Given the description of an element on the screen output the (x, y) to click on. 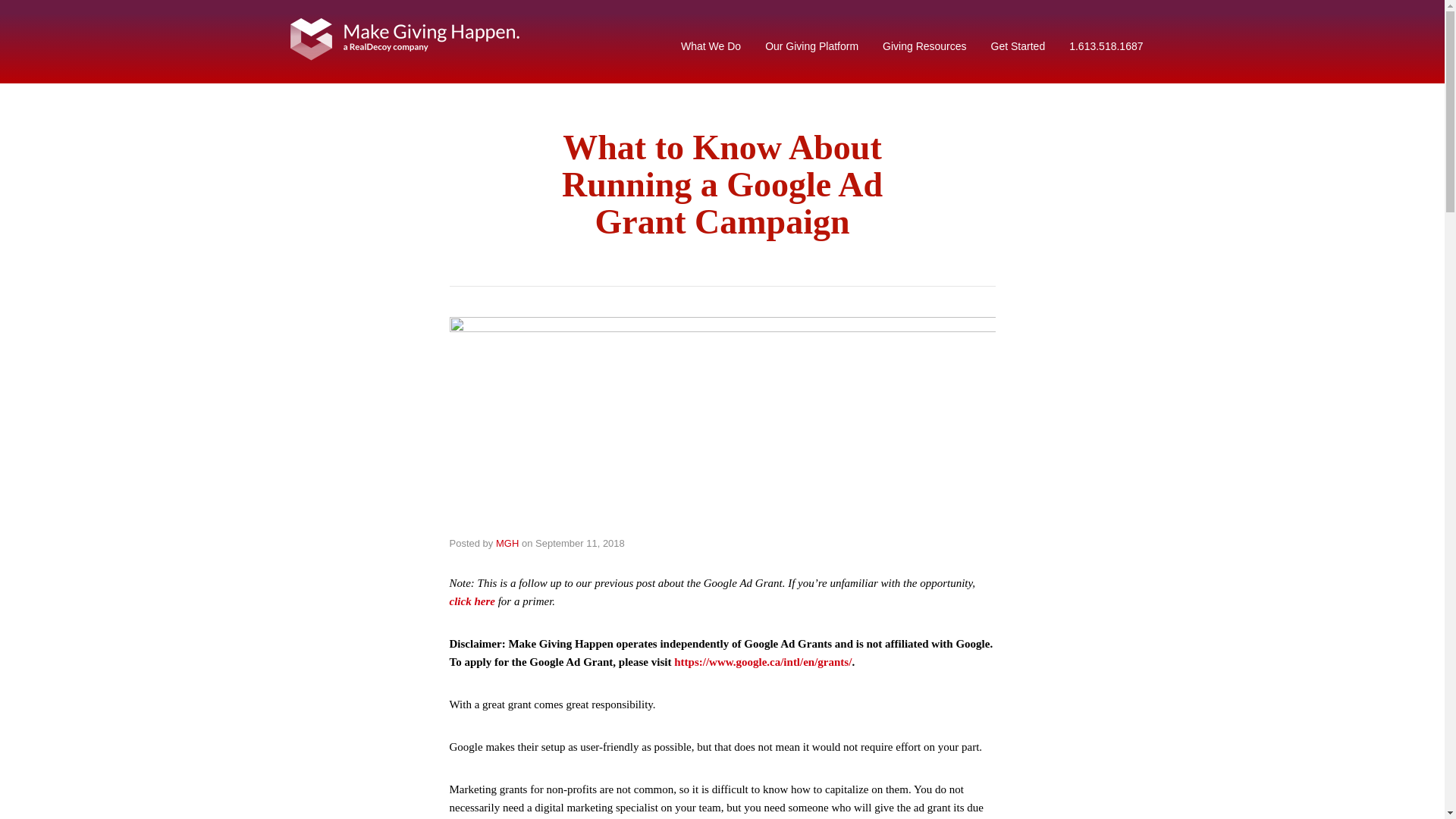
Get Started (1018, 46)
MGH (507, 542)
What We Do (711, 46)
click here (471, 601)
1.613.518.1687 (1105, 46)
Posts by MGH (507, 542)
Giving Resources (924, 46)
Our Giving Platform (812, 46)
